Given the description of an element on the screen output the (x, y) to click on. 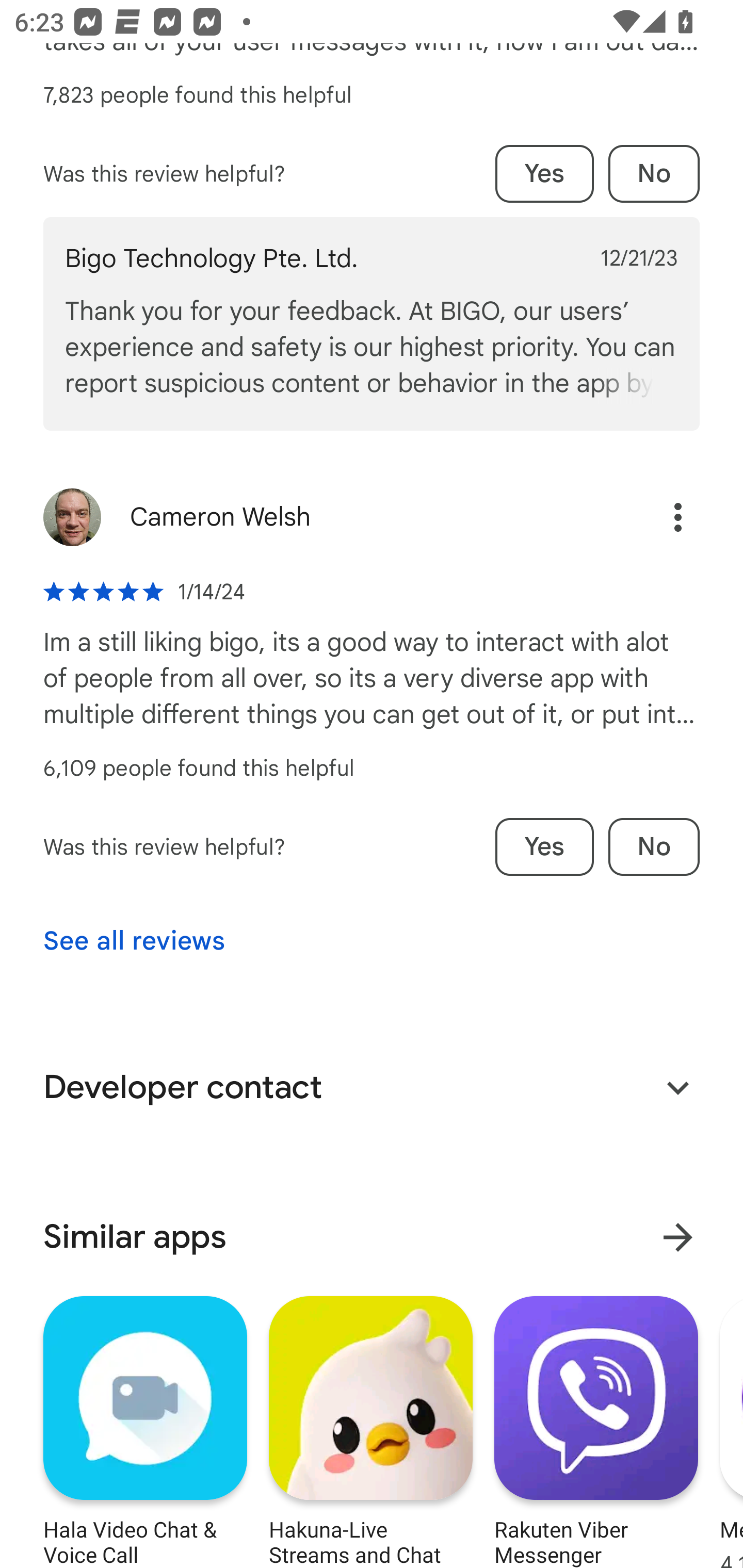
Yes (544, 173)
No (653, 173)
Options (677, 517)
Yes (544, 847)
No (653, 847)
See all reviews (134, 940)
Developer contact
 Expand (371, 1087)
Expand (677, 1088)
Similar apps
 More results for Similar apps (371, 1236)
More results for Similar apps (677, 1237)
App: Rakuten Viber Messenger
Star rating: 4.5


 (595, 1429)
